Given the description of an element on the screen output the (x, y) to click on. 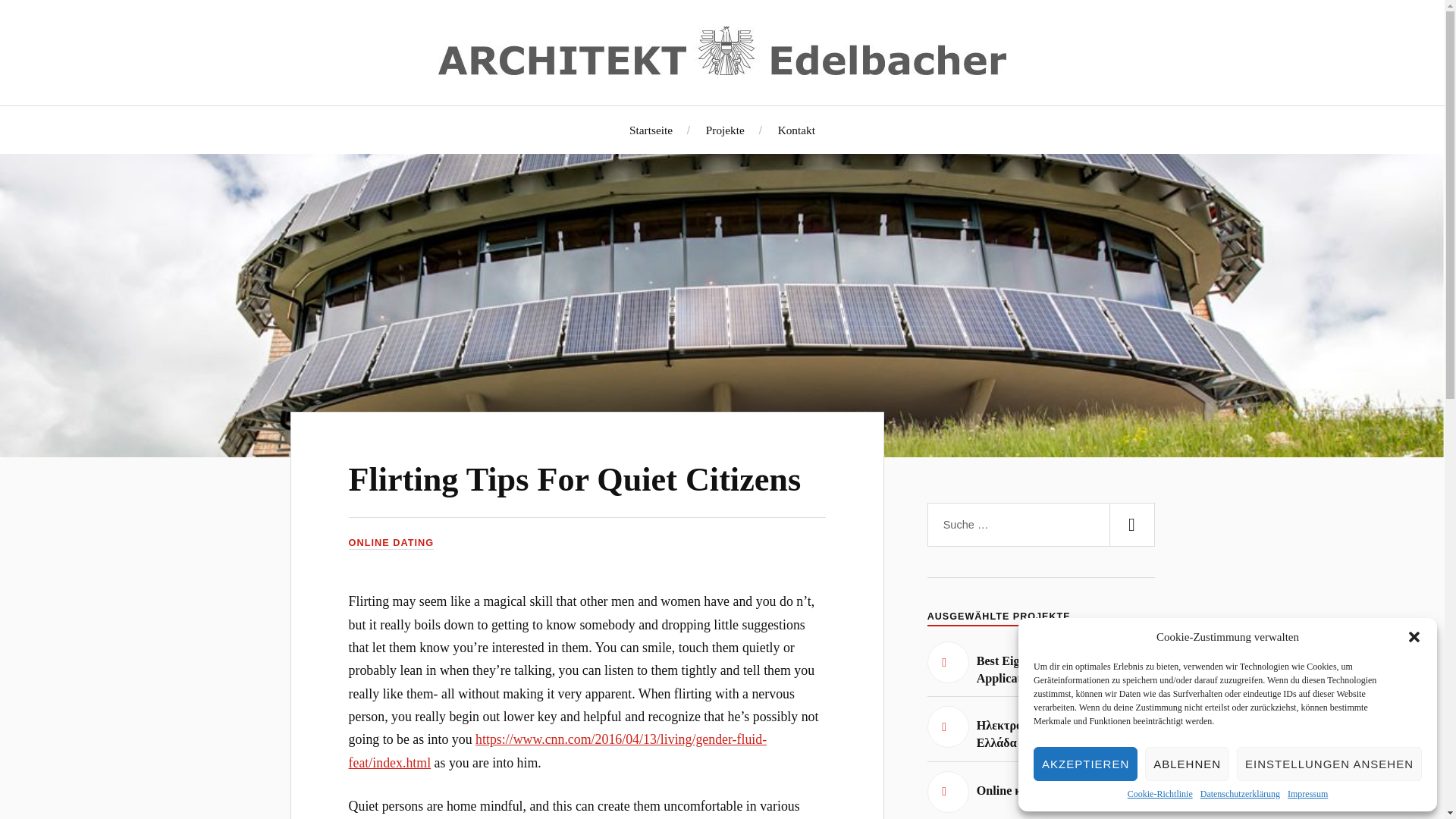
ABLEHNEN (1186, 763)
Flirting Tips For Quiet Citizens (575, 479)
EINSTELLUNGEN ANSEHEN (1329, 763)
Impressum (1307, 794)
AKZEPTIEREN (1085, 763)
Cookie-Richtlinie (1159, 794)
ONLINE DATING (391, 543)
Startseite (650, 129)
